Given the description of an element on the screen output the (x, y) to click on. 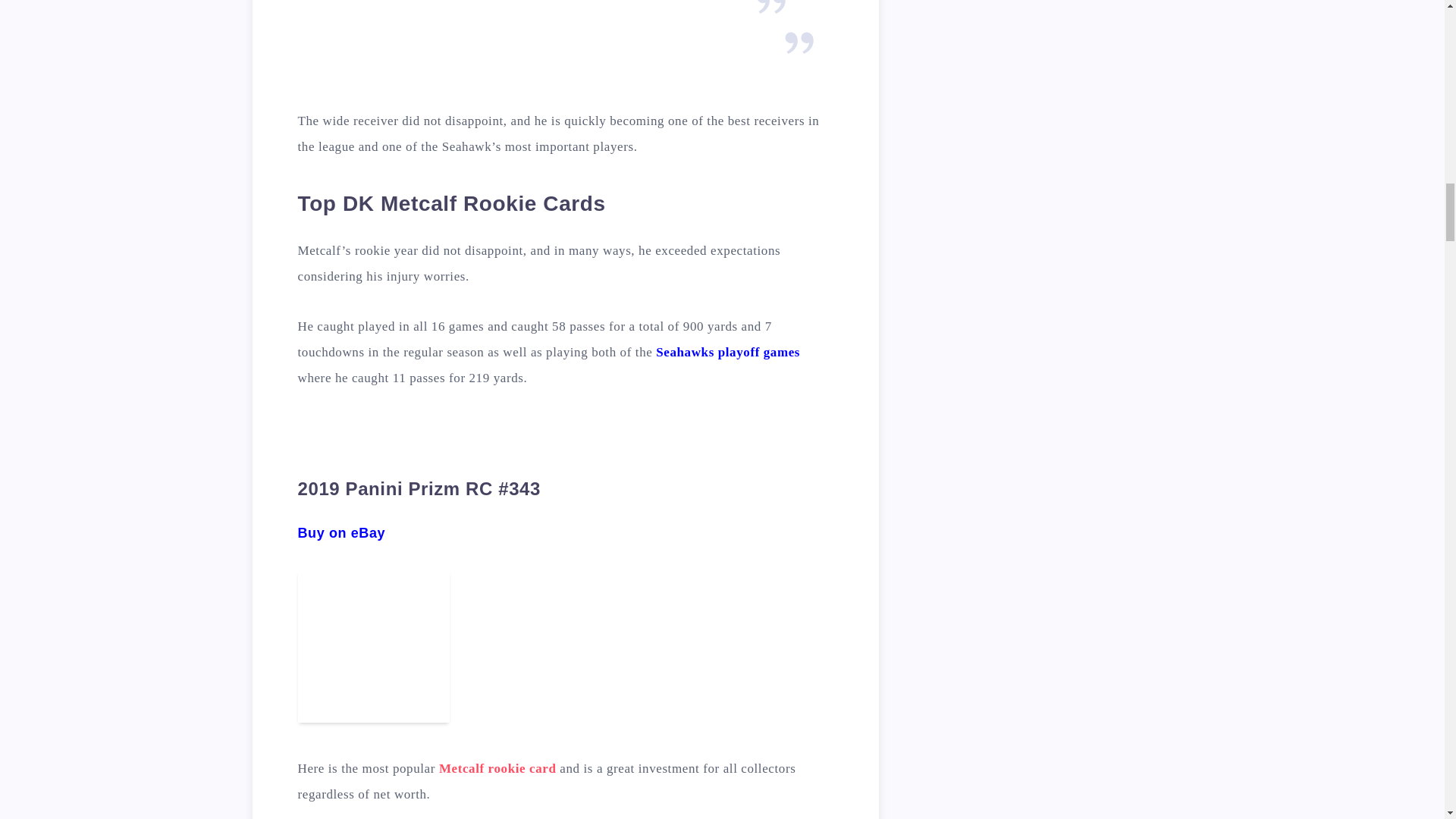
Metcalf rookie card (497, 768)
Seahawks playoff games (727, 351)
Buy on eBay (341, 532)
